Given the description of an element on the screen output the (x, y) to click on. 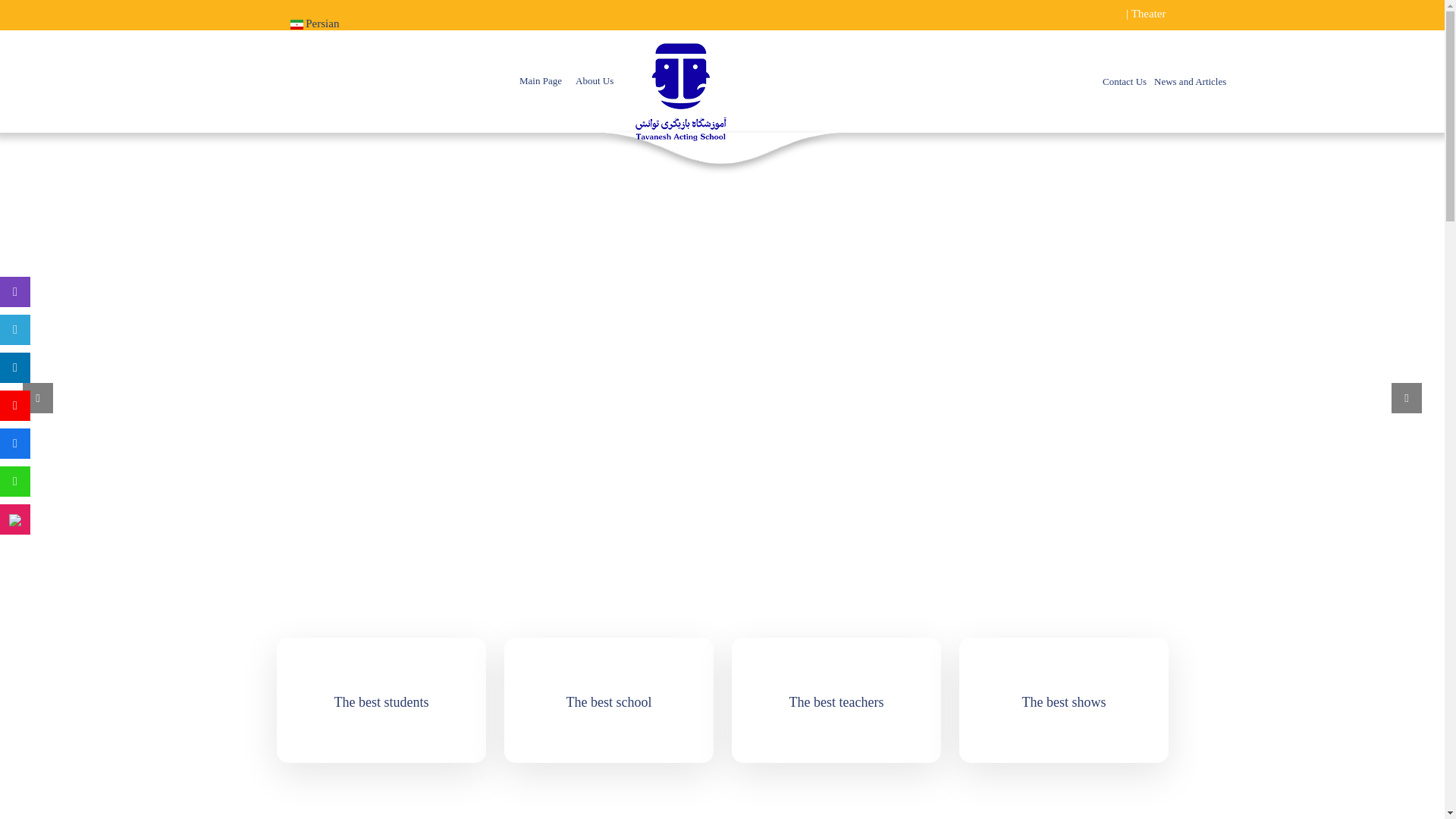
The best teachers (836, 702)
The best students (380, 702)
The best school (608, 702)
The best shows (1063, 702)
Persian (314, 23)
Tavanesh Acting School (681, 84)
